Given the description of an element on the screen output the (x, y) to click on. 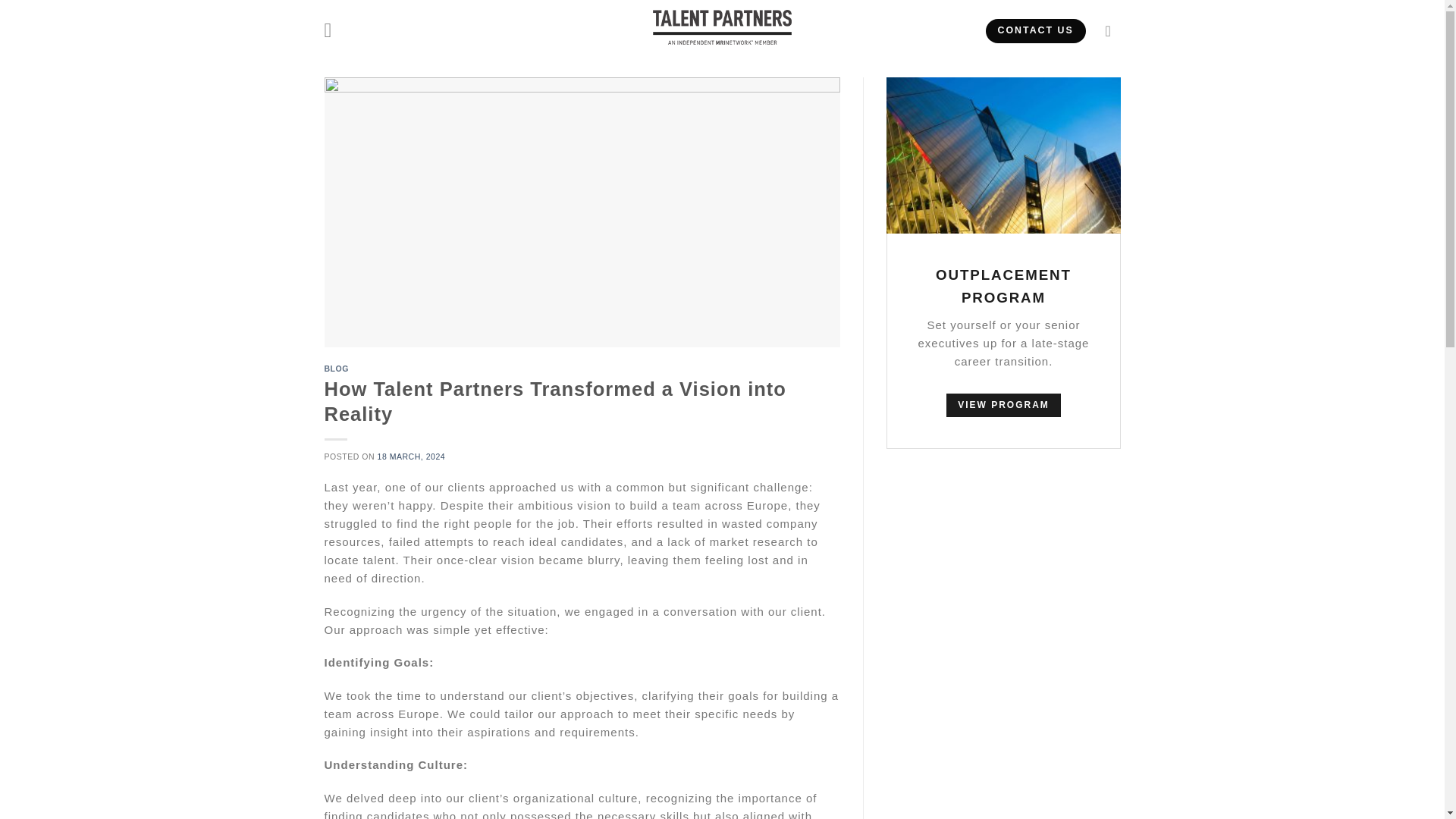
Talent Partners - Recruiting Top Executive Talent (722, 27)
VIEW PROGRAM (1001, 404)
BLOG (336, 368)
CONTACT US (1035, 30)
18 MARCH, 2024 (411, 456)
